Given the description of an element on the screen output the (x, y) to click on. 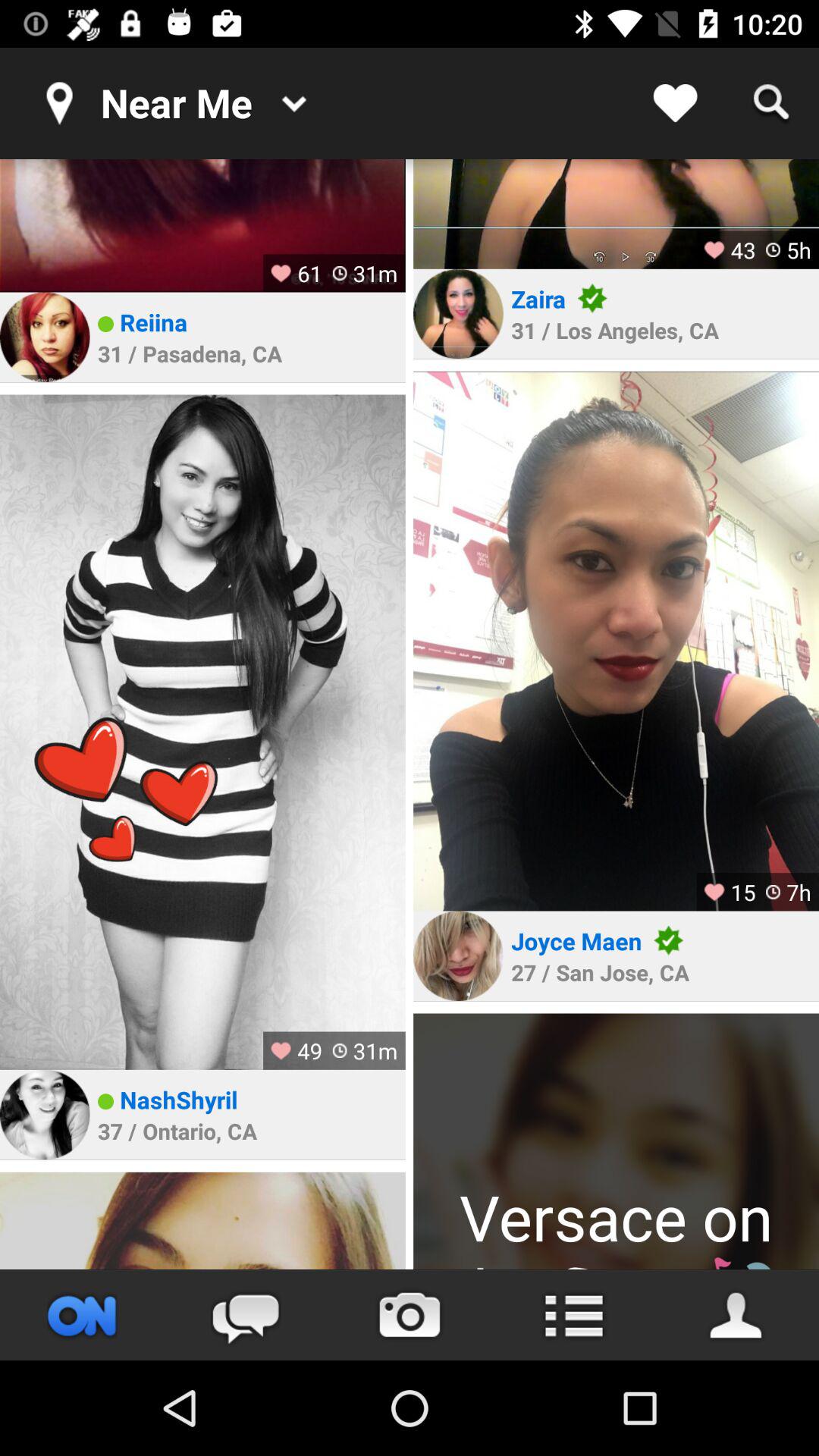
show menu (573, 1315)
